Given the description of an element on the screen output the (x, y) to click on. 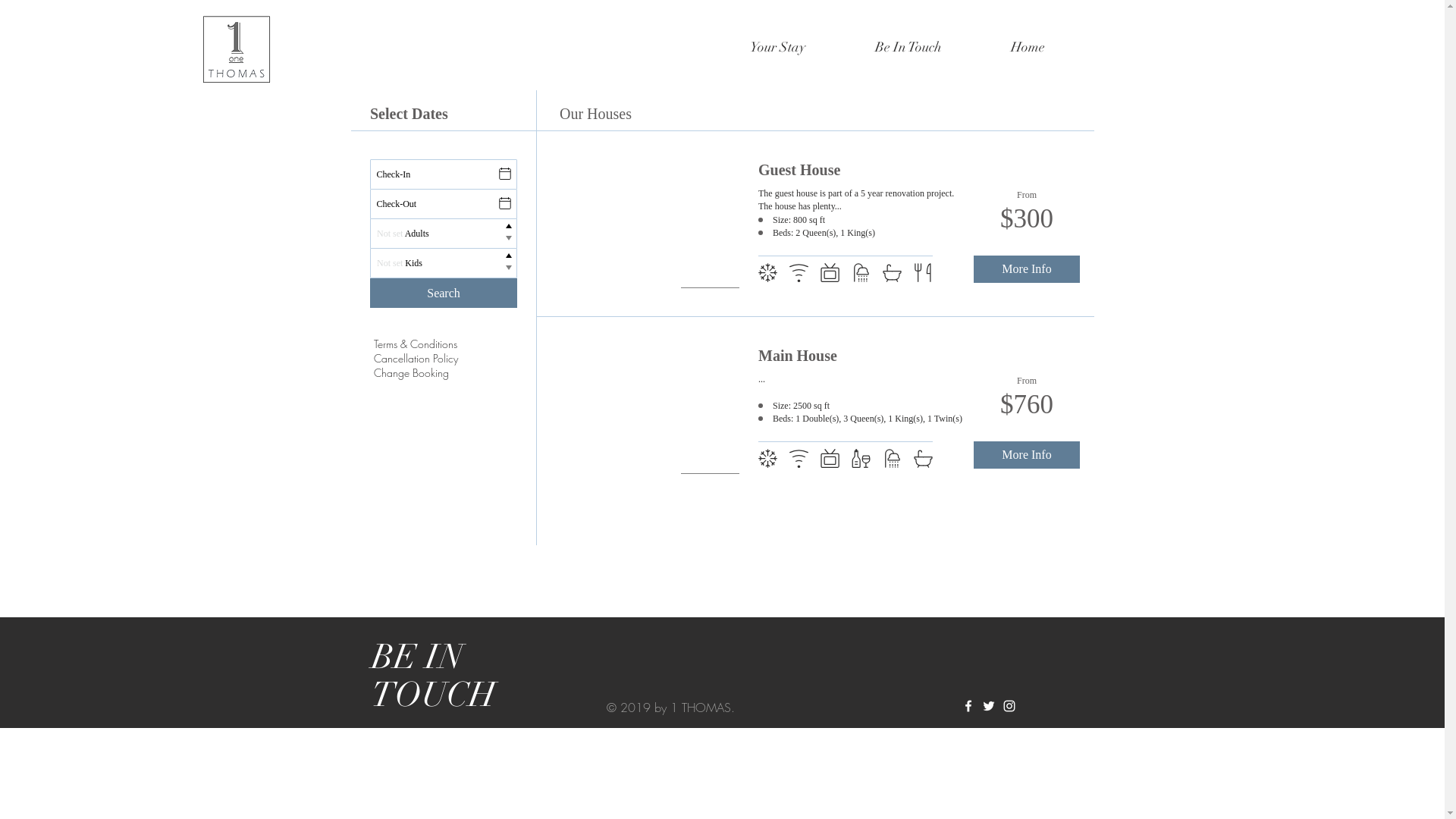
BE IN 
TOUCH Element type: text (433, 675)
Your Stay Element type: text (776, 46)
Book a Room Element type: hover (721, 317)
Be In Touch Element type: text (908, 46)
Home Element type: text (1027, 46)
